Given the description of an element on the screen output the (x, y) to click on. 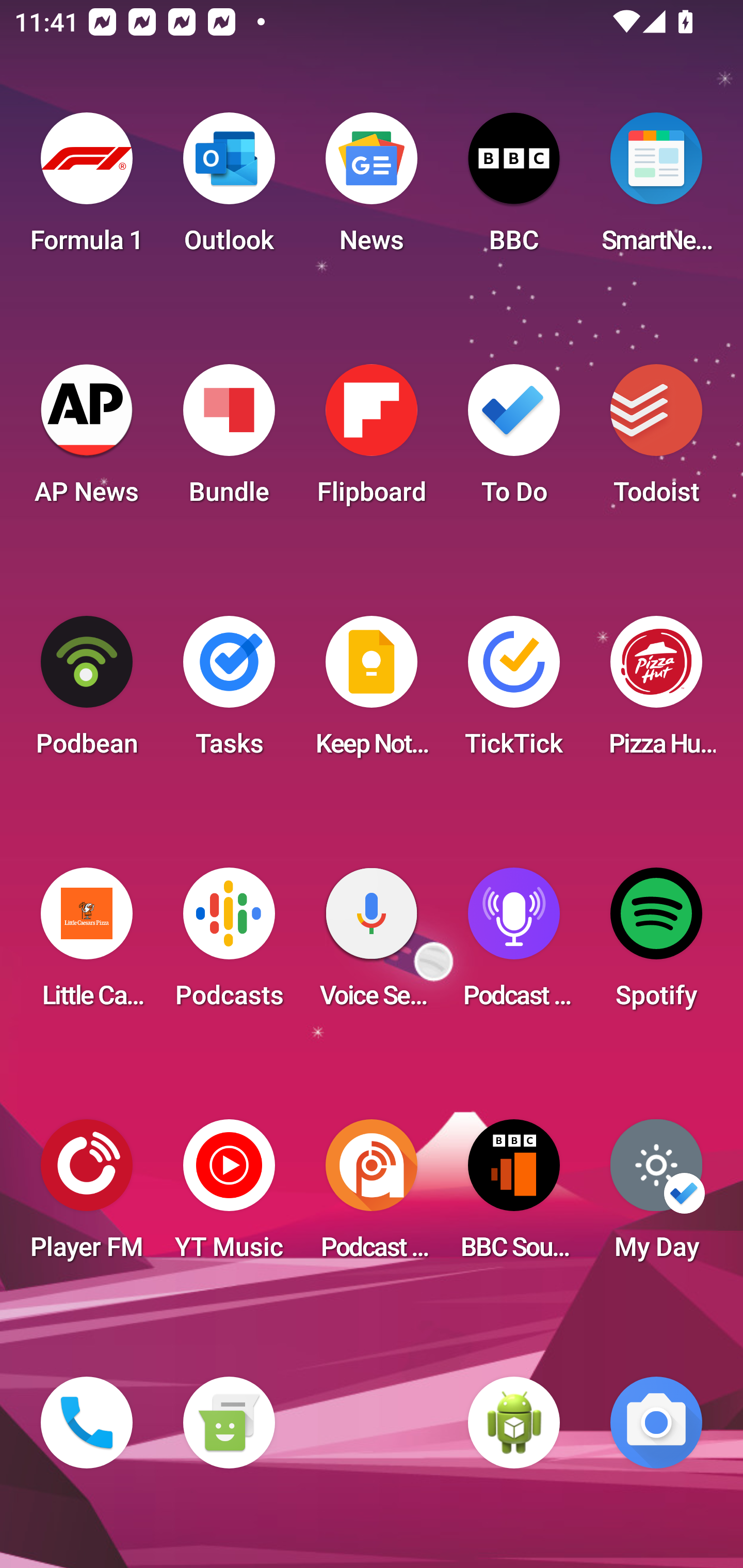
Formula 1 (86, 188)
Outlook (228, 188)
News (371, 188)
BBC (513, 188)
SmartNews (656, 188)
AP News (86, 440)
Bundle (228, 440)
Flipboard (371, 440)
To Do (513, 440)
Todoist (656, 440)
Podbean (86, 692)
Tasks (228, 692)
Keep Notes (371, 692)
TickTick (513, 692)
Pizza Hut HK & Macau (656, 692)
Little Caesars Pizza (86, 943)
Podcasts (228, 943)
Voice Search (371, 943)
Podcast Player (513, 943)
Spotify (656, 943)
Player FM (86, 1195)
YT Music (228, 1195)
Podcast Addict (371, 1195)
BBC Sounds (513, 1195)
My Day (656, 1195)
Phone (86, 1422)
Messaging (228, 1422)
WebView Browser Tester (513, 1422)
Camera (656, 1422)
